Given the description of an element on the screen output the (x, y) to click on. 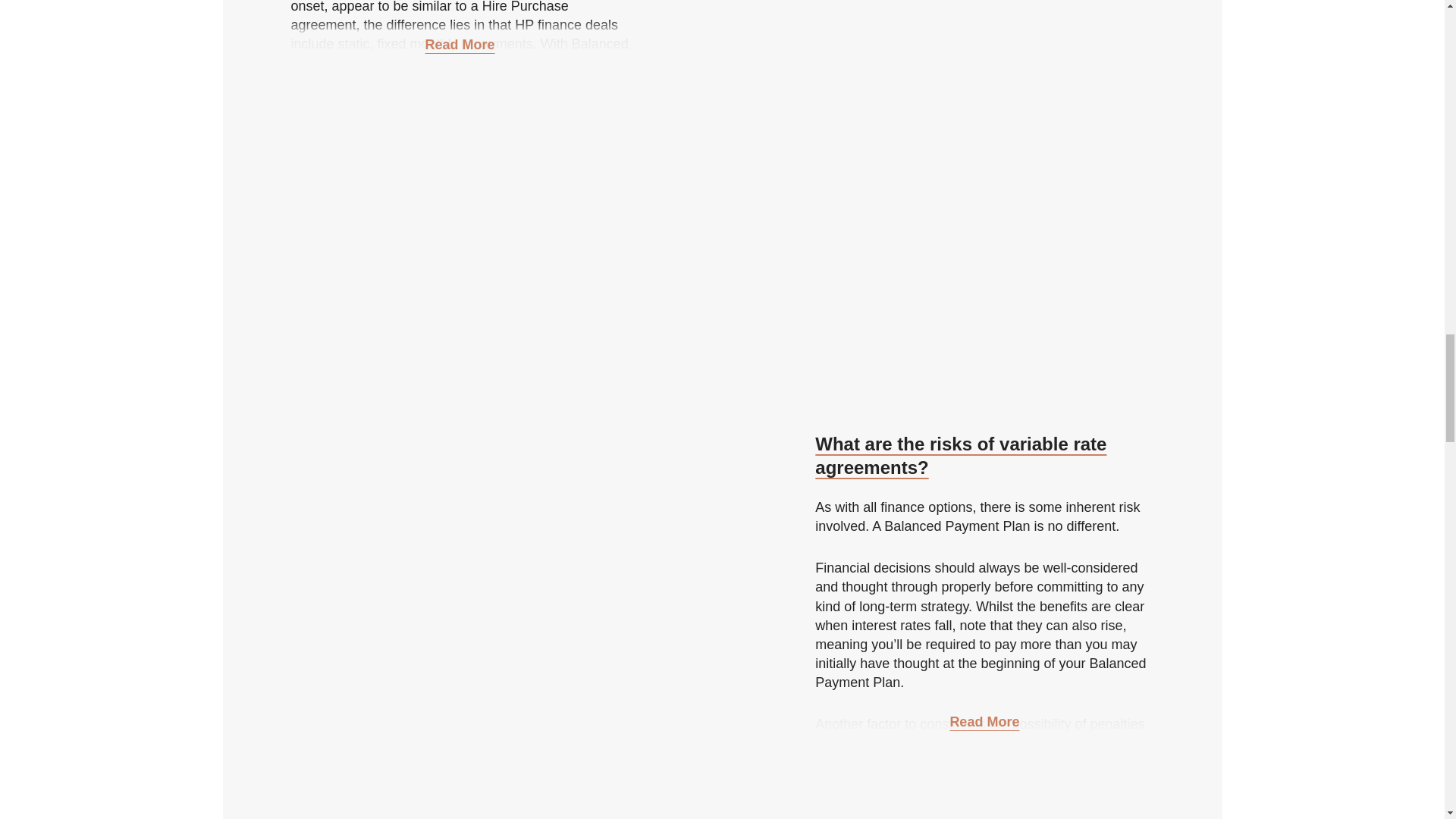
Read More (984, 723)
Read More (460, 47)
